Given the description of an element on the screen output the (x, y) to click on. 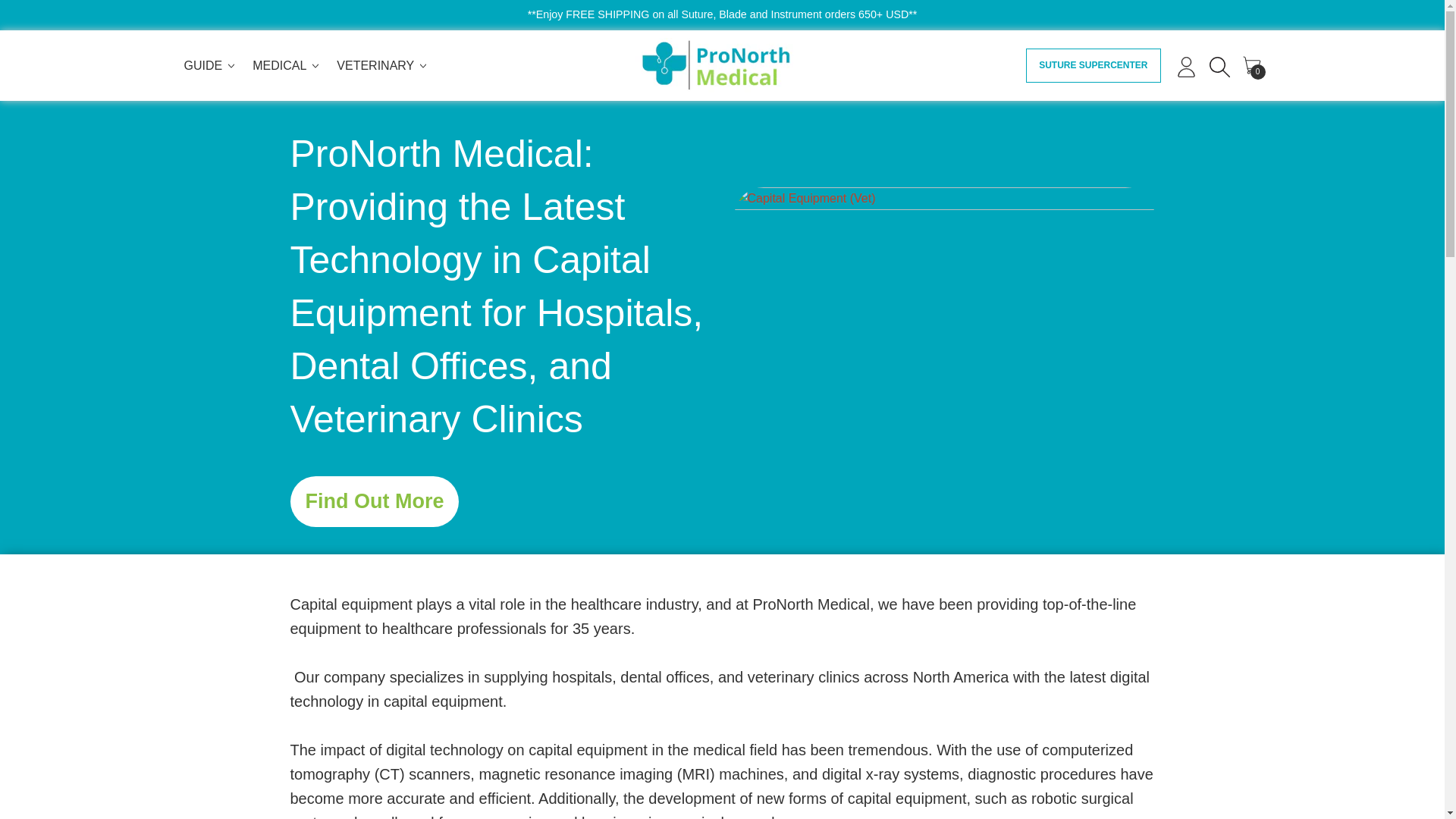
VETERINARY (382, 65)
Find Out More (373, 501)
SUTURE SUPERCENTER (1093, 65)
Log in (1184, 64)
Search our site (1217, 64)
MEDICAL (286, 65)
GUIDE (1251, 65)
